Given the description of an element on the screen output the (x, y) to click on. 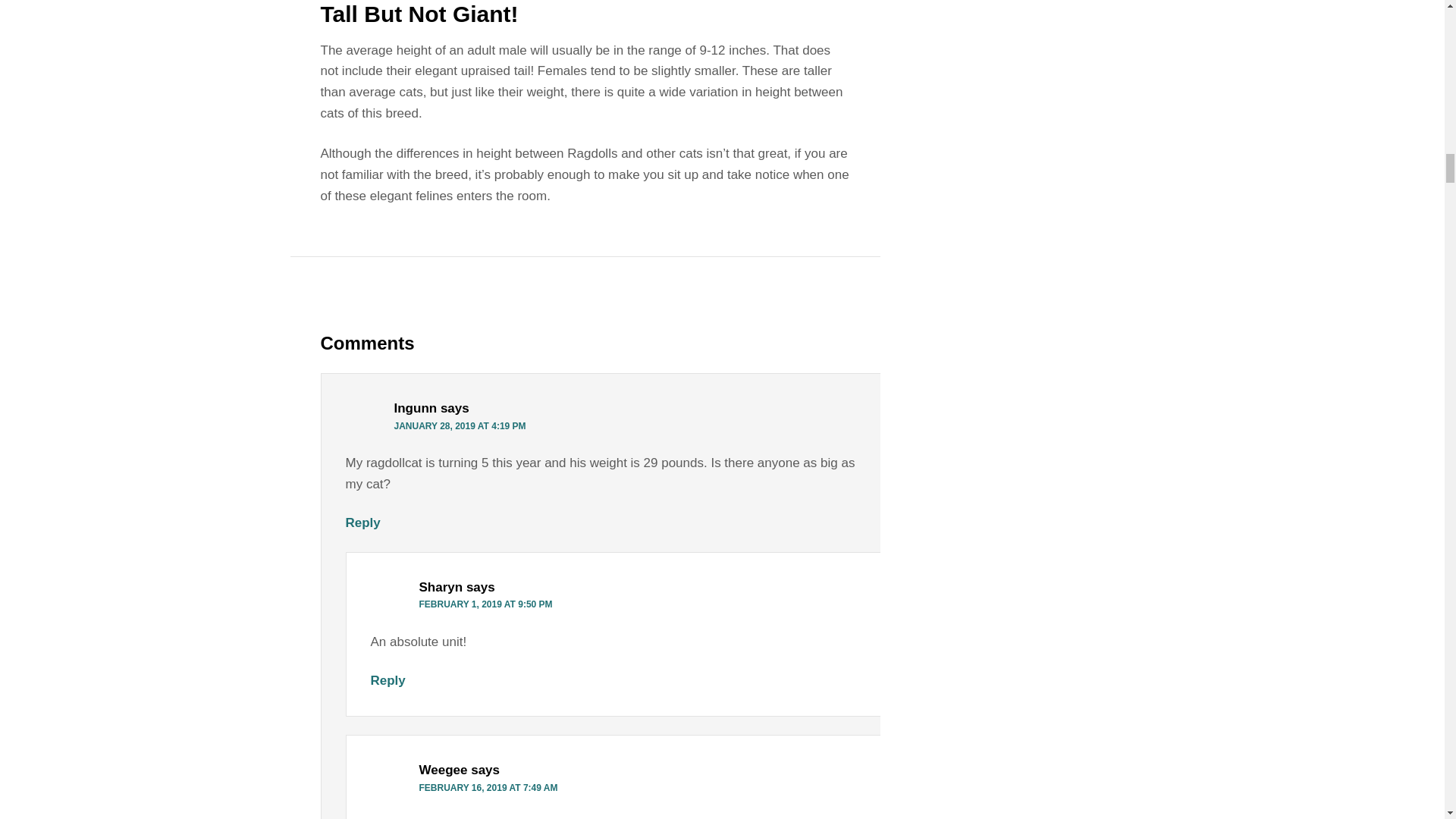
FEBRUARY 1, 2019 AT 9:50 PM (485, 603)
Reply (386, 680)
Reply (363, 522)
JANUARY 28, 2019 AT 4:19 PM (459, 425)
FEBRUARY 16, 2019 AT 7:49 AM (488, 787)
